Given the description of an element on the screen output the (x, y) to click on. 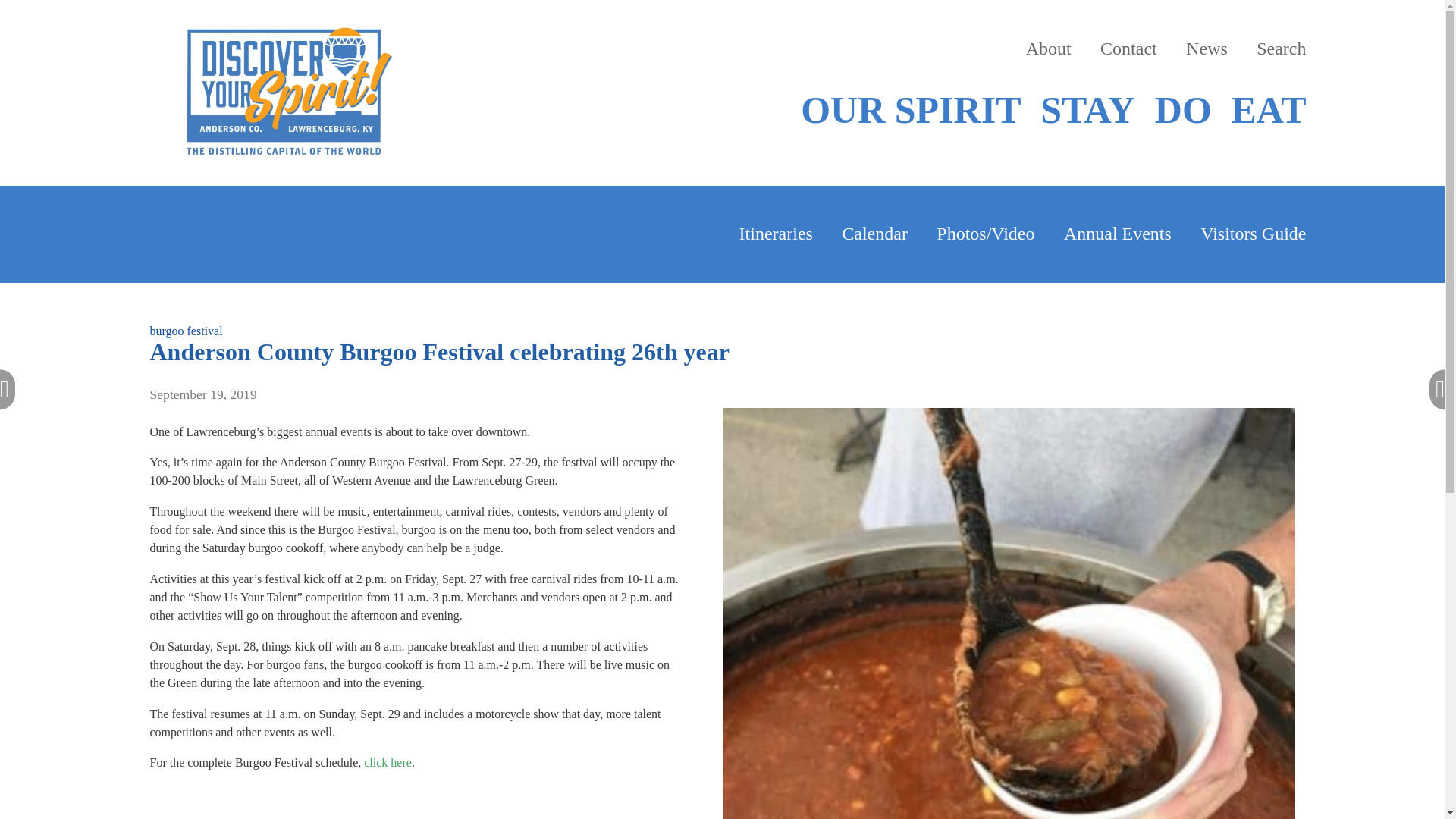
DO (1182, 110)
Search (1281, 48)
News (1206, 48)
Annual Events (1118, 233)
burgoo festival (185, 331)
OUR SPIRIT (910, 110)
Itineraries (775, 233)
Contact (1128, 48)
About (1048, 48)
STAY (1088, 110)
